Given the description of an element on the screen output the (x, y) to click on. 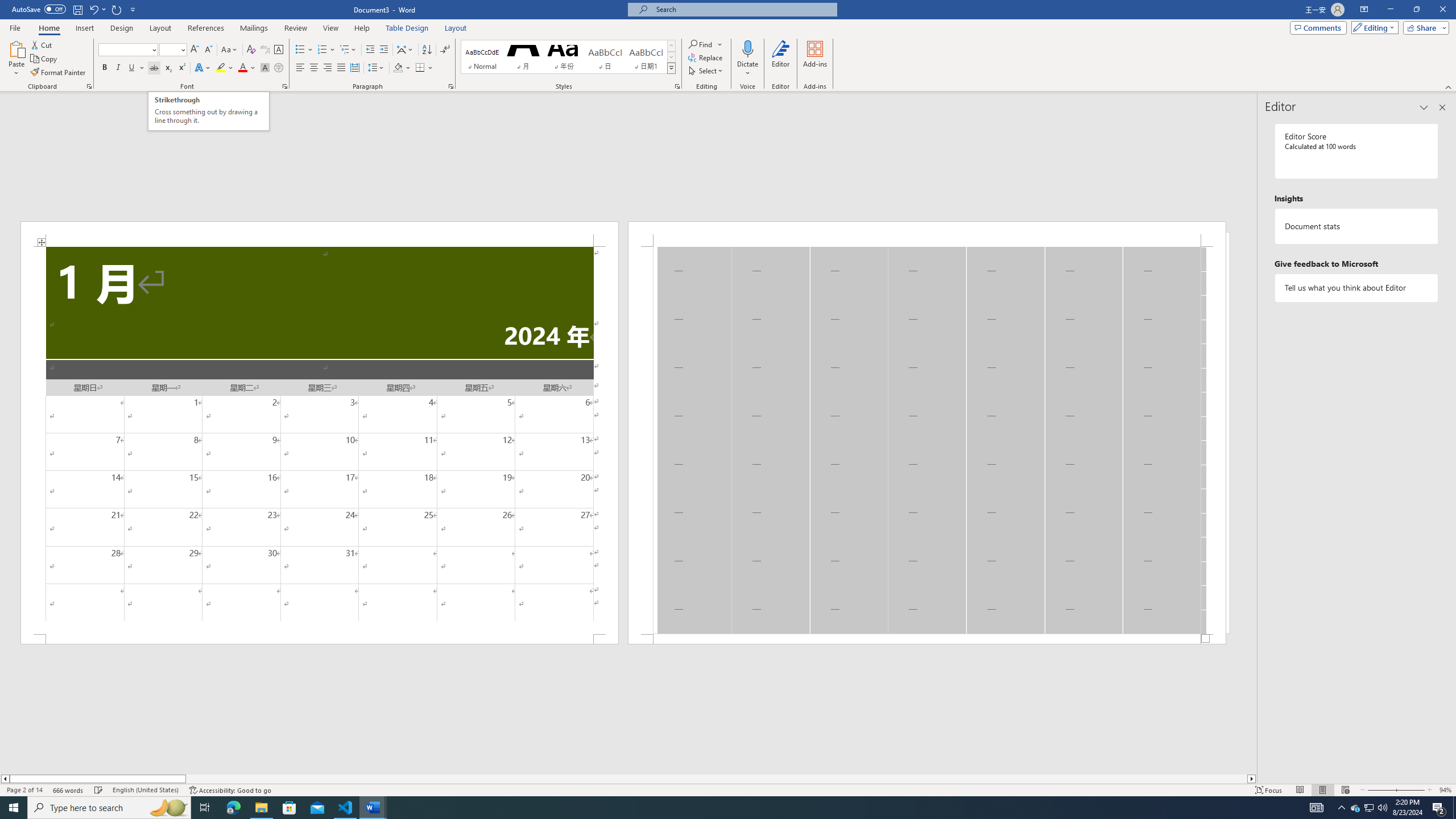
Document statistics (1356, 226)
